Given the description of an element on the screen output the (x, y) to click on. 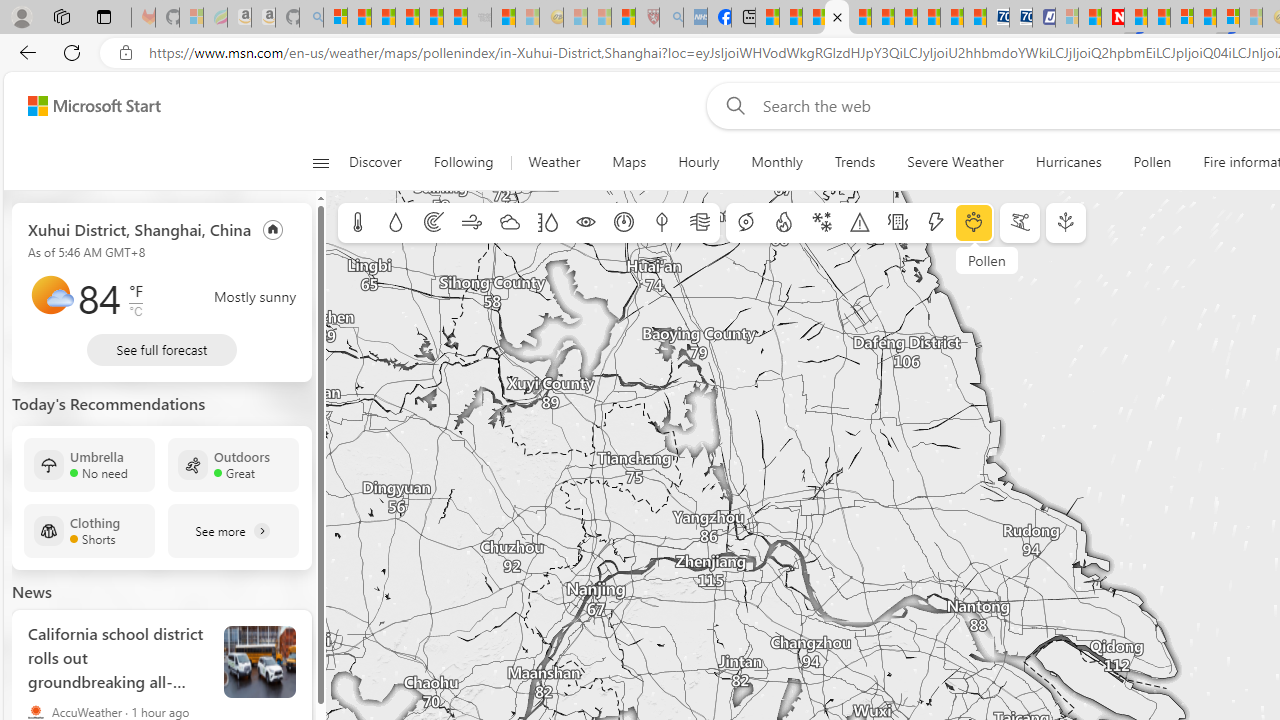
Severe Weather (955, 162)
Class: button-glyph (320, 162)
Open navigation menu (320, 162)
Maps (628, 162)
Pollen (974, 223)
Visibility (586, 223)
Clouds (509, 223)
Clothing Shorts (89, 530)
Severe weather (860, 223)
